Given the description of an element on the screen output the (x, y) to click on. 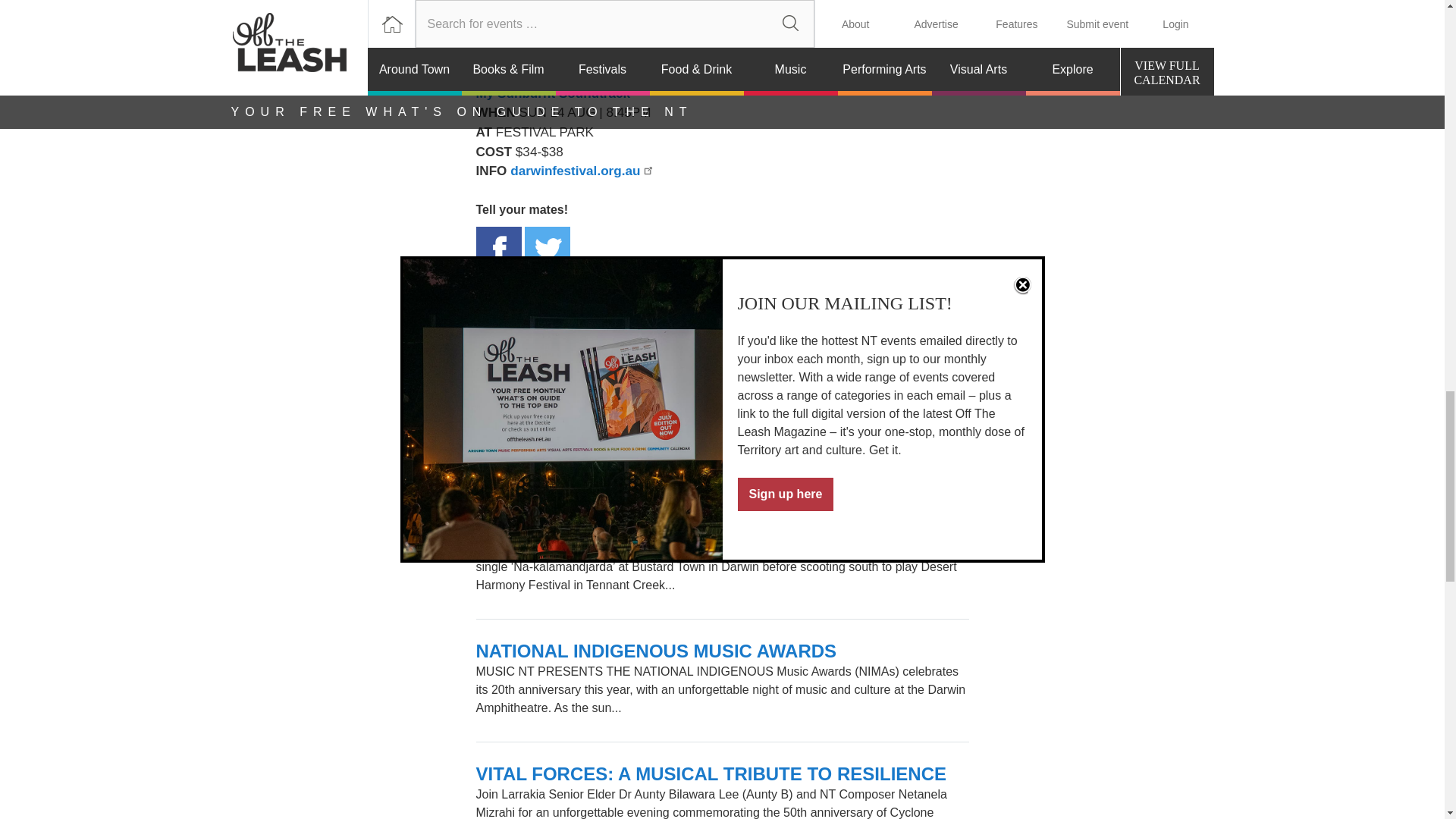
FEEL THE RIPPLE EFFECT (593, 527)
SPIRITS Lifted (538, 405)
NATIONAL INDIGENOUS MUSIC AWARDS (656, 650)
VITAL FORCES: A MUSICAL TRIBUTE TO RESILIENCE (711, 773)
darwinfestival.org.au (582, 170)
My Sunburnt Soundtrack (553, 92)
Share on Facebook (498, 248)
Tweet this on twitter (547, 248)
